Given the description of an element on the screen output the (x, y) to click on. 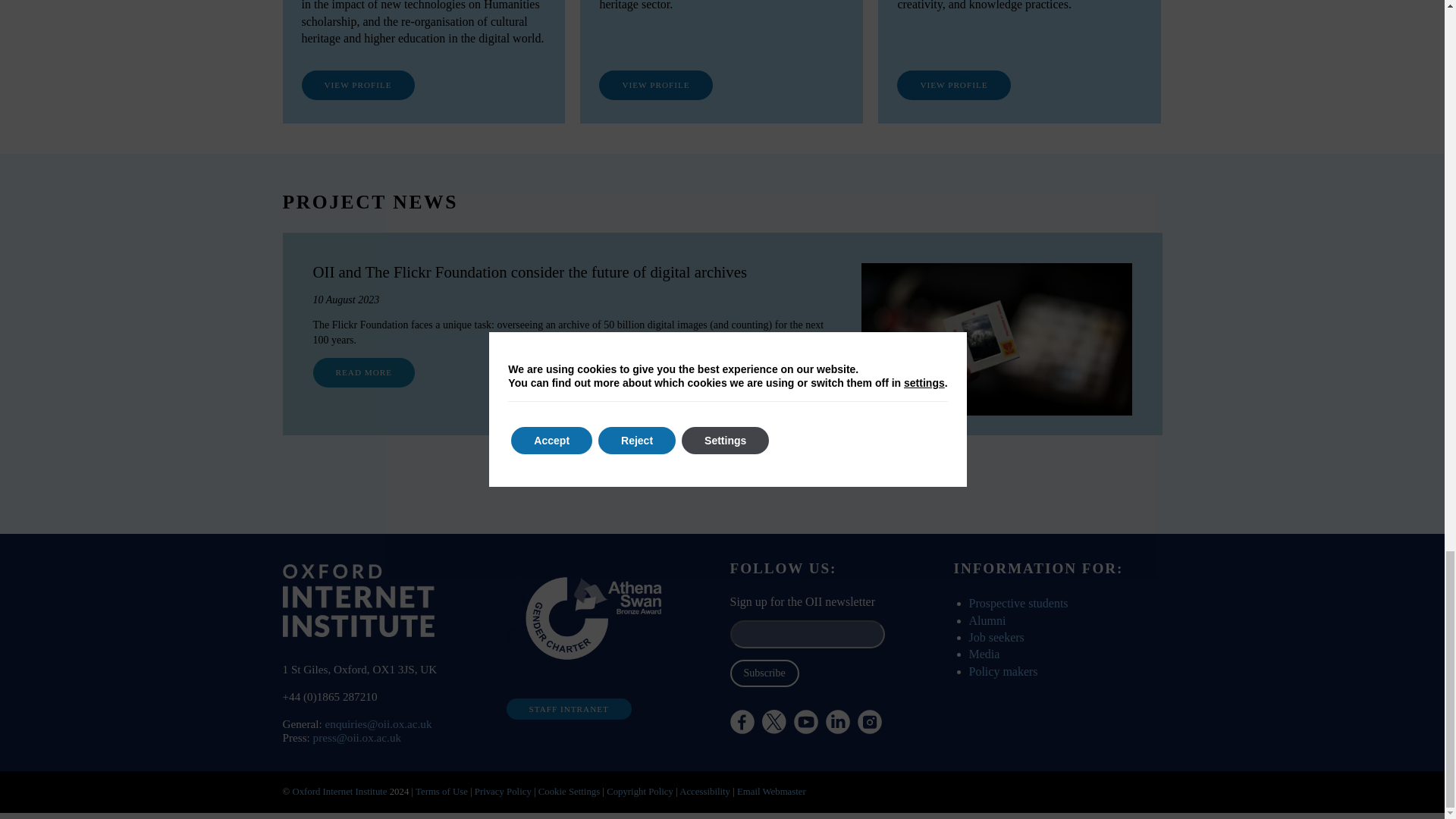
YouTube link (804, 721)
Twitter link (814, 762)
Instagram link (868, 721)
LinkedIn link (836, 721)
Subscribe (763, 673)
Facebook link (741, 721)
